Given the description of an element on the screen output the (x, y) to click on. 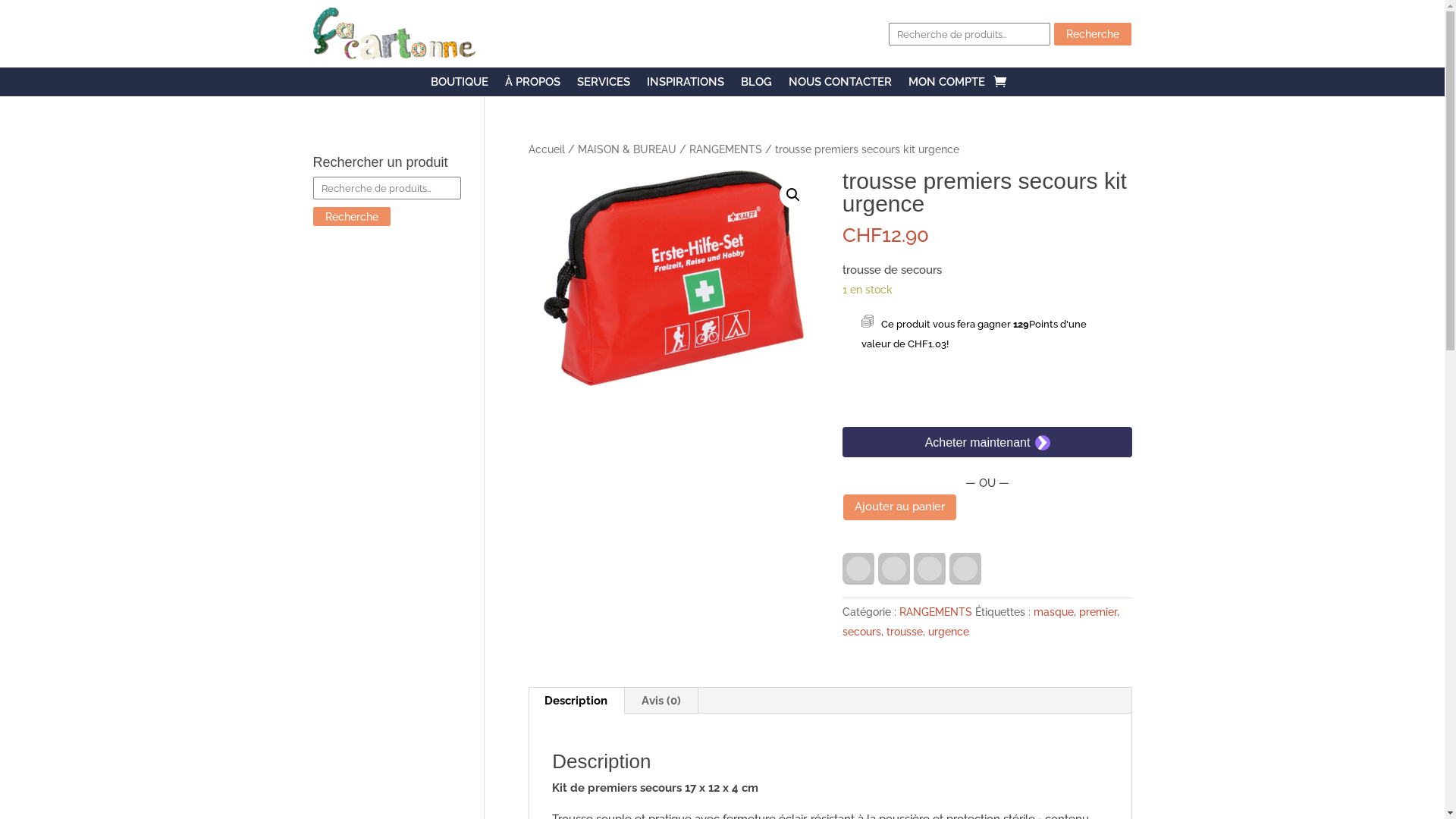
trousse Element type: text (904, 631)
MON COMPTE Element type: text (946, 84)
secours Element type: text (861, 631)
Accueil Element type: text (546, 149)
Pinterest Element type: text (895, 568)
BLOG Element type: text (755, 84)
SERVICES Element type: text (602, 84)
Facebook Element type: text (860, 568)
Email Element type: text (931, 568)
MAISON & BUREAU Element type: text (626, 149)
Description Element type: text (575, 700)
BOUTIQUE Element type: text (459, 84)
INSPIRATIONS Element type: text (684, 84)
Avis (0) Element type: text (660, 700)
Recherche Element type: text (350, 216)
NOUS CONTACTER Element type: text (839, 84)
WhatsApp Element type: text (967, 568)
masque Element type: text (1053, 611)
Logo-cacartonne Element type: hover (393, 33)
Ajouter au panier Element type: text (899, 507)
RANGEMENTS Element type: text (935, 611)
trousse de secours Element type: hover (673, 277)
RANGEMENTS Element type: text (725, 149)
urgence Element type: text (948, 631)
Recherche Element type: text (1092, 33)
premier Element type: text (1098, 611)
